Given the description of an element on the screen output the (x, y) to click on. 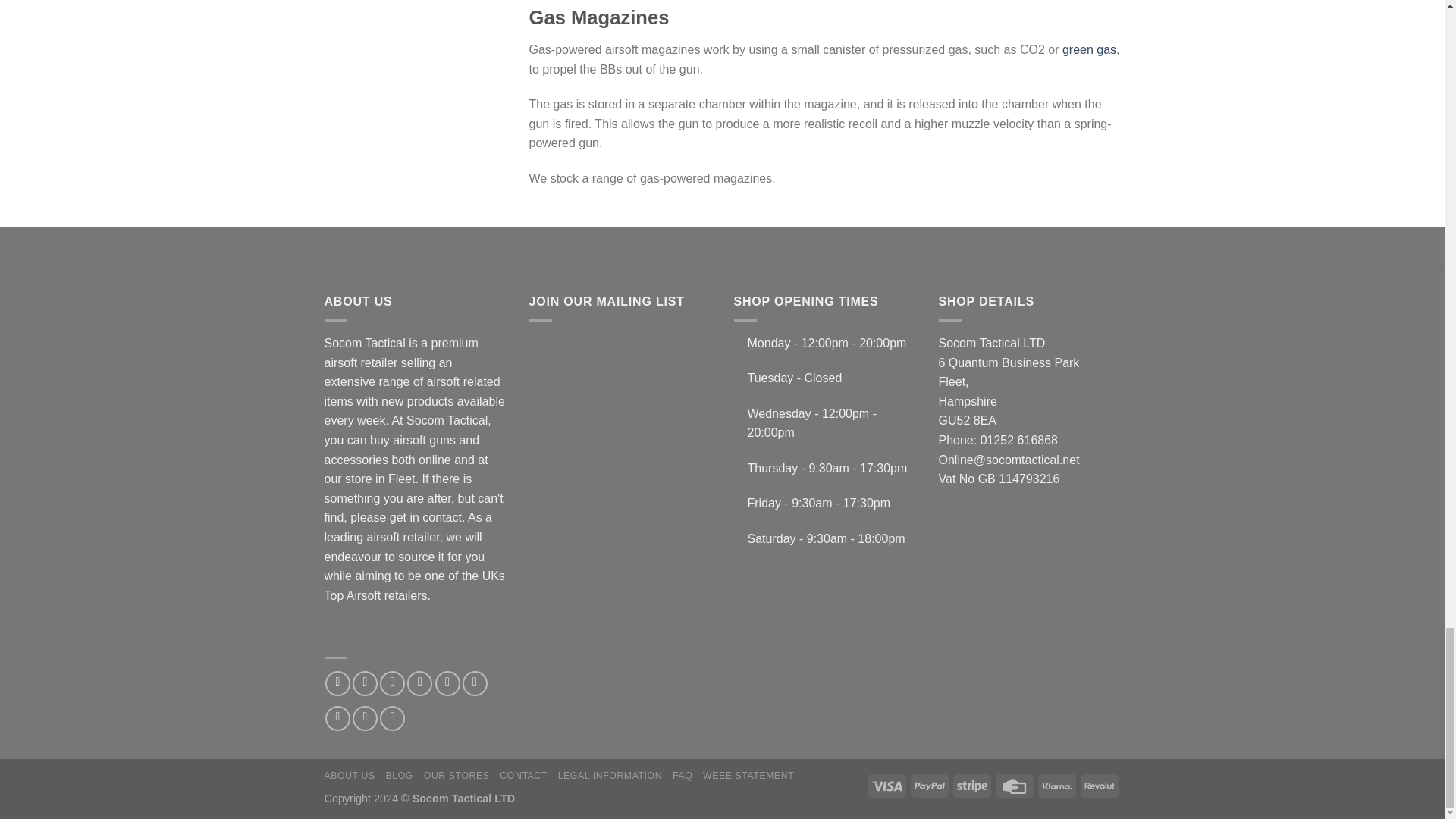
Call us (475, 683)
Follow on LinkedIn (364, 718)
Follow on Twitter (419, 683)
Follow on TikTok (392, 683)
Follow on Facebook (337, 683)
Follow on Pinterest (337, 718)
Send us an email (447, 683)
Follow on Instagram (364, 683)
